Given the description of an element on the screen output the (x, y) to click on. 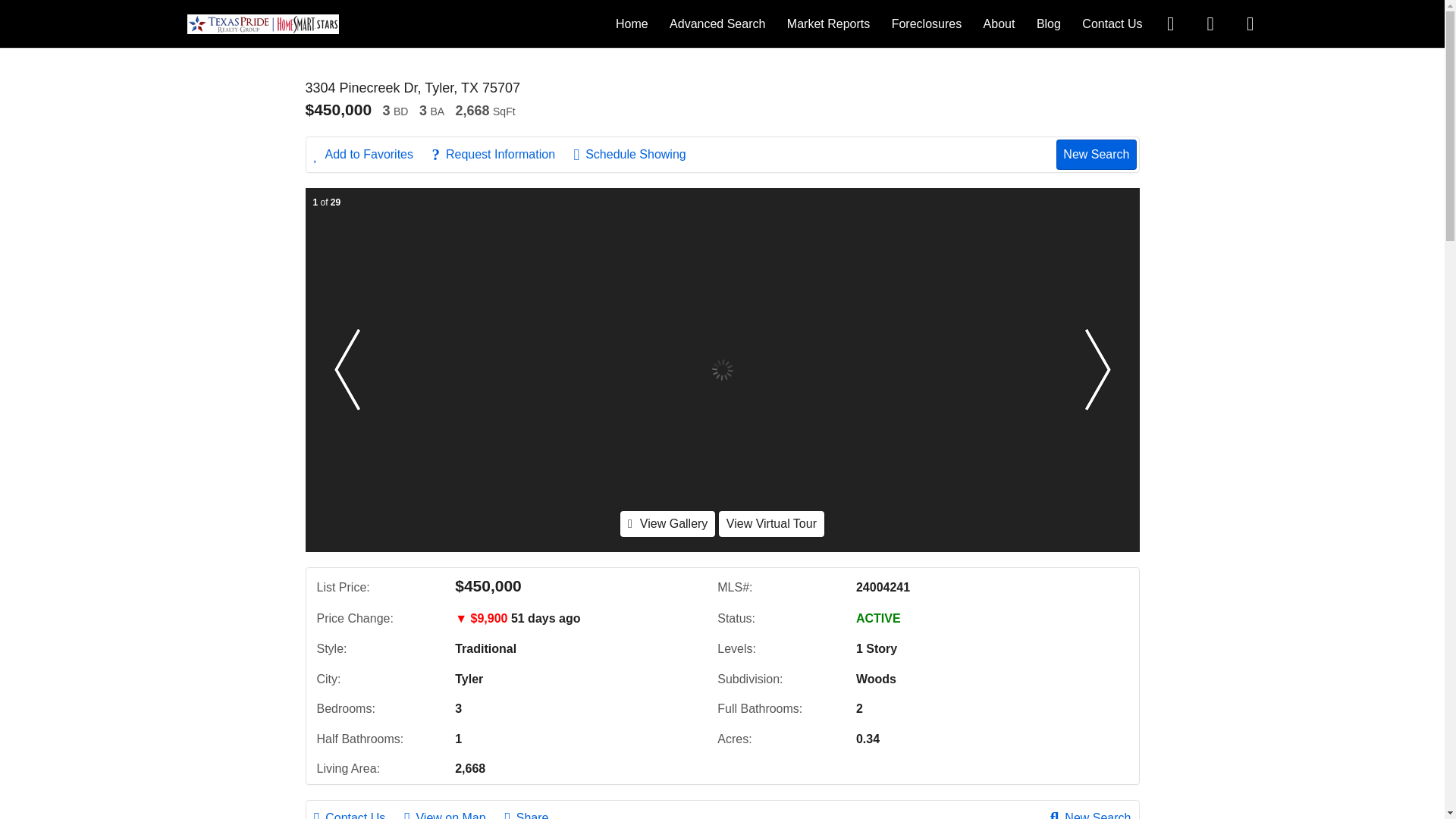
Contact Us (1111, 23)
View Virtual Tour (771, 522)
Request Information (500, 154)
Add to Favorites (371, 154)
Home (631, 23)
View on Map (452, 812)
View Gallery (667, 522)
Advanced Search (717, 23)
Schedule Showing (636, 154)
View Virtual Tour (771, 524)
Market Reports (828, 23)
Foreclosures (925, 23)
Share (533, 812)
About (999, 23)
Blog (1048, 23)
